Given the description of an element on the screen output the (x, y) to click on. 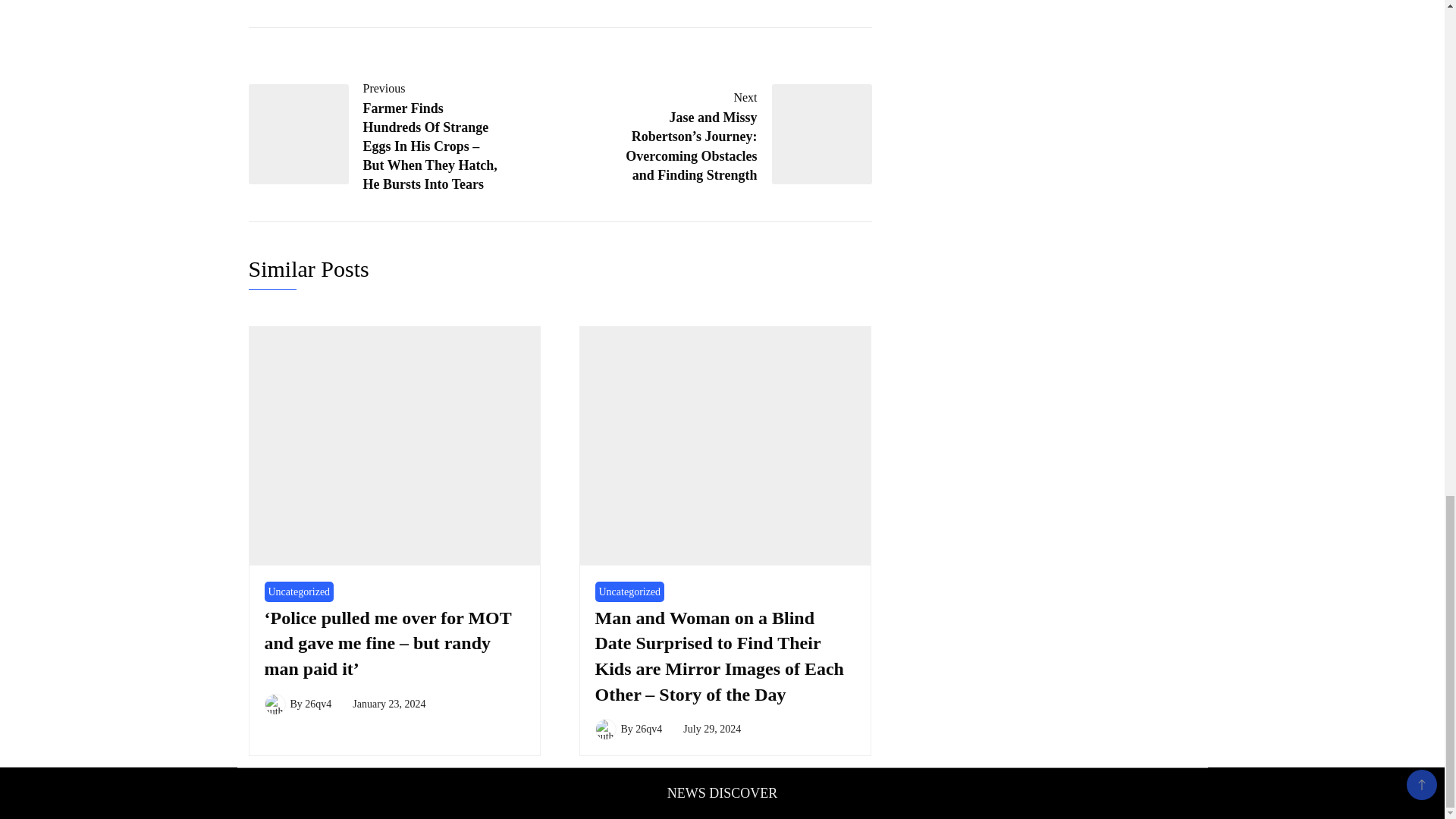
NEWS DISCOVER (721, 792)
July 29, 2024 (711, 728)
26qv4 (317, 704)
26qv4 (648, 728)
Uncategorized (298, 591)
January 23, 2024 (388, 704)
Uncategorized (628, 591)
